Given the description of an element on the screen output the (x, y) to click on. 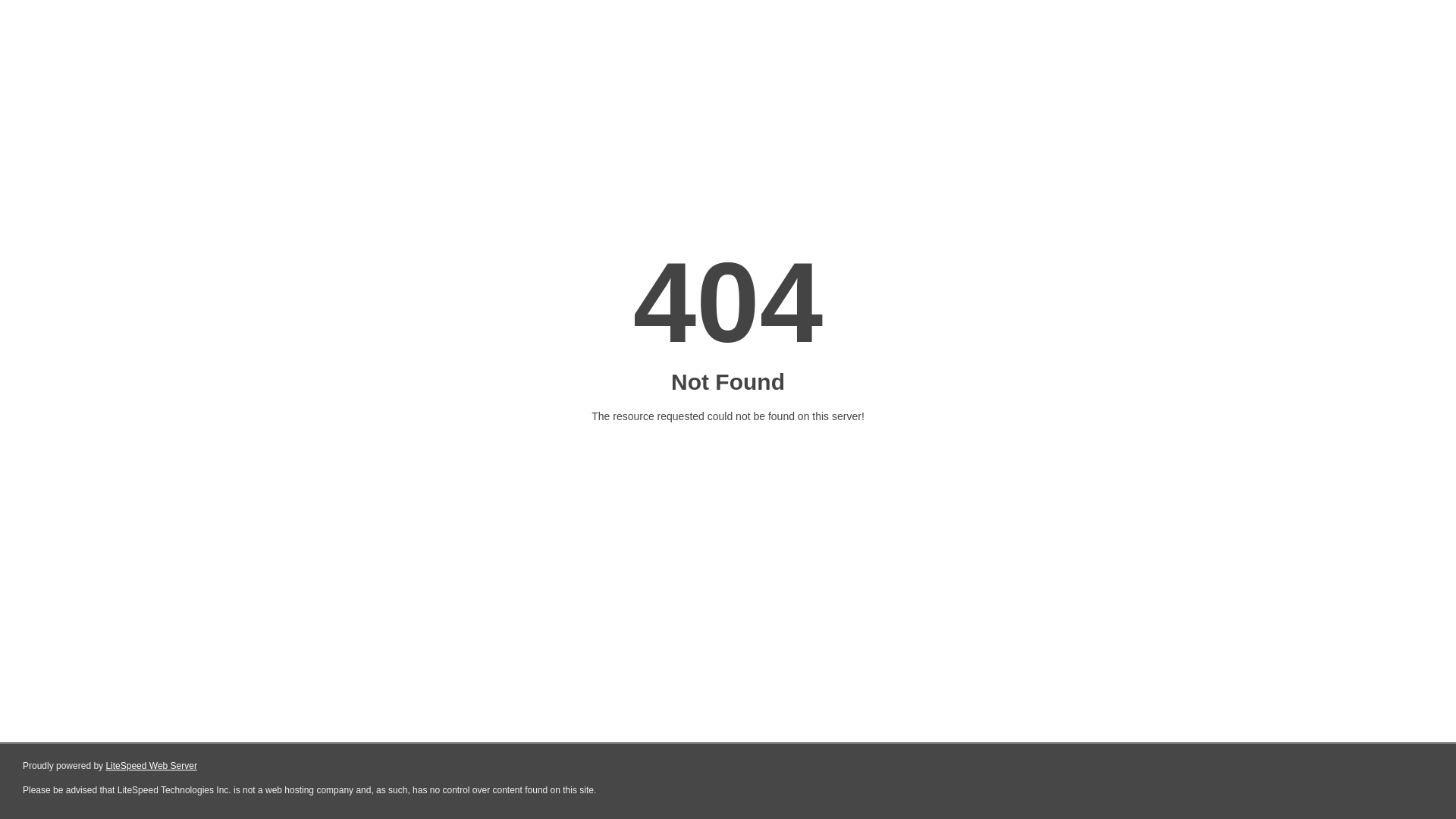
LiteSpeed Web Server (150, 765)
